Given the description of an element on the screen output the (x, y) to click on. 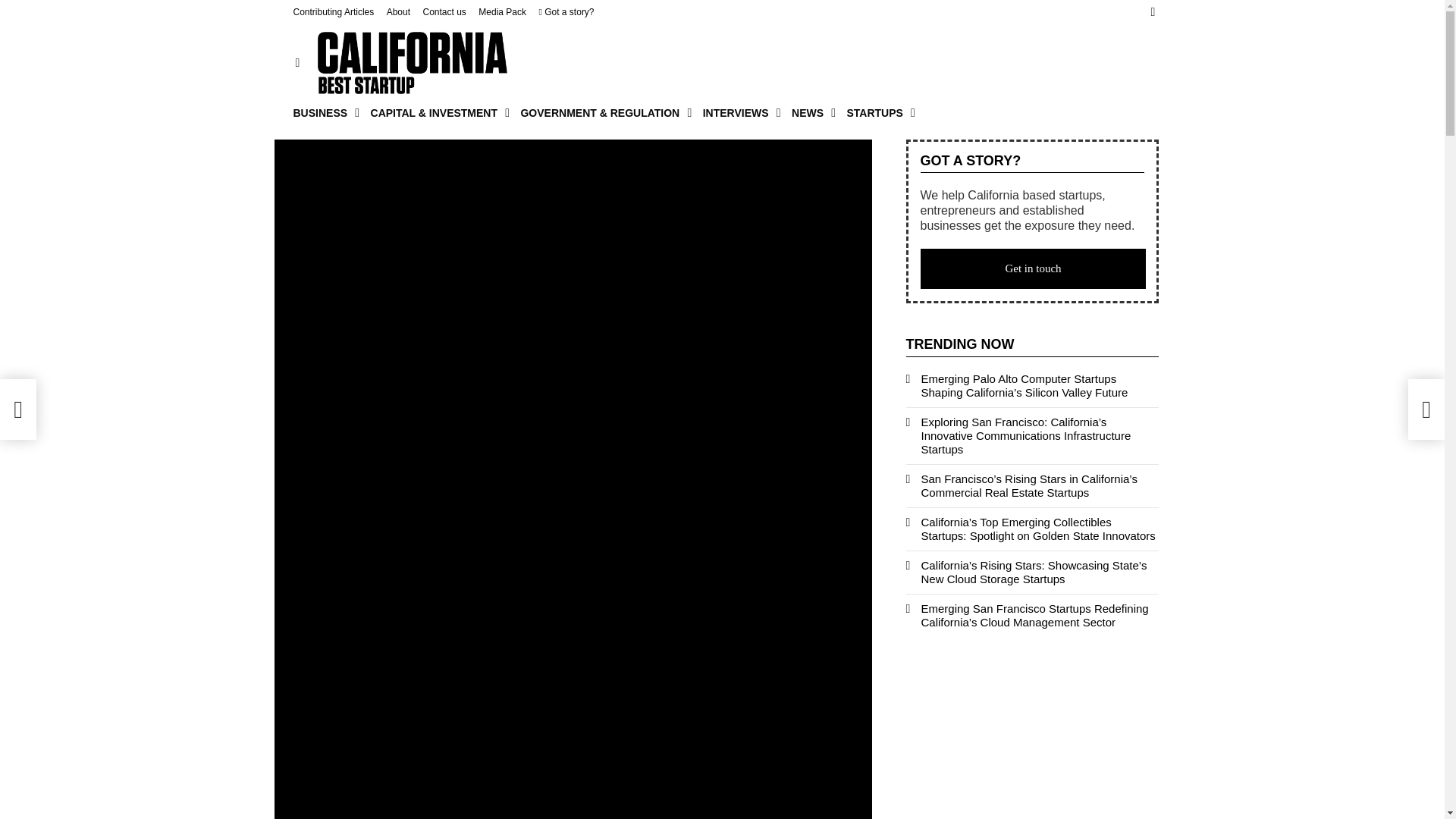
INTERVIEWS (737, 112)
SEARCH (1152, 12)
Contributing Articles (333, 12)
Menu (296, 63)
BUSINESS (322, 112)
Contact us (443, 12)
NEWS (809, 112)
About (398, 12)
Media Pack (502, 12)
